Given the description of an element on the screen output the (x, y) to click on. 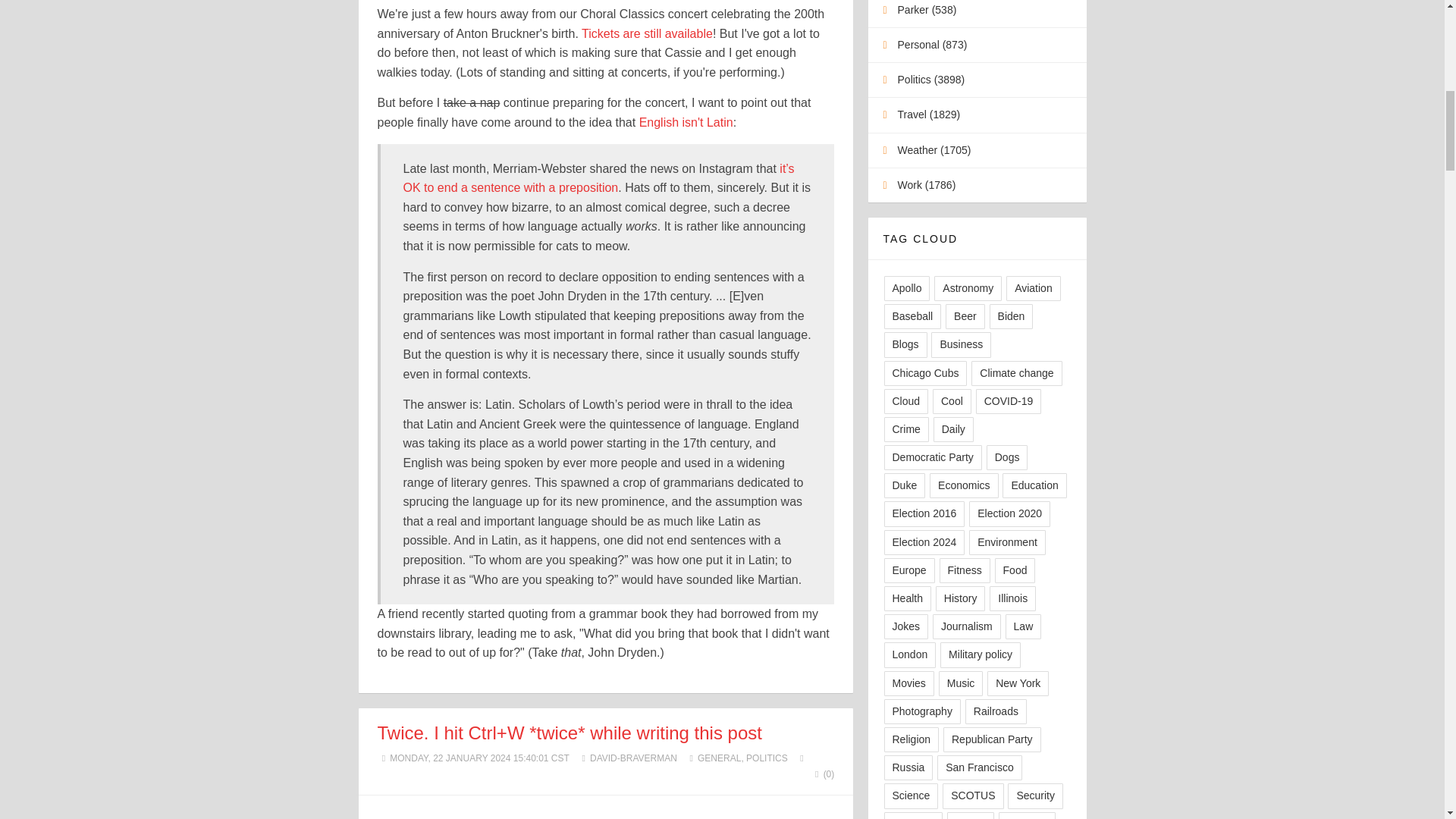
Open a map of the location where this post was written (801, 757)
DAVID-BRAVERMAN (633, 757)
Tickets are still available (646, 33)
English isn't Latin (686, 122)
POLITICS (766, 757)
GENERAL (719, 757)
